Given the description of an element on the screen output the (x, y) to click on. 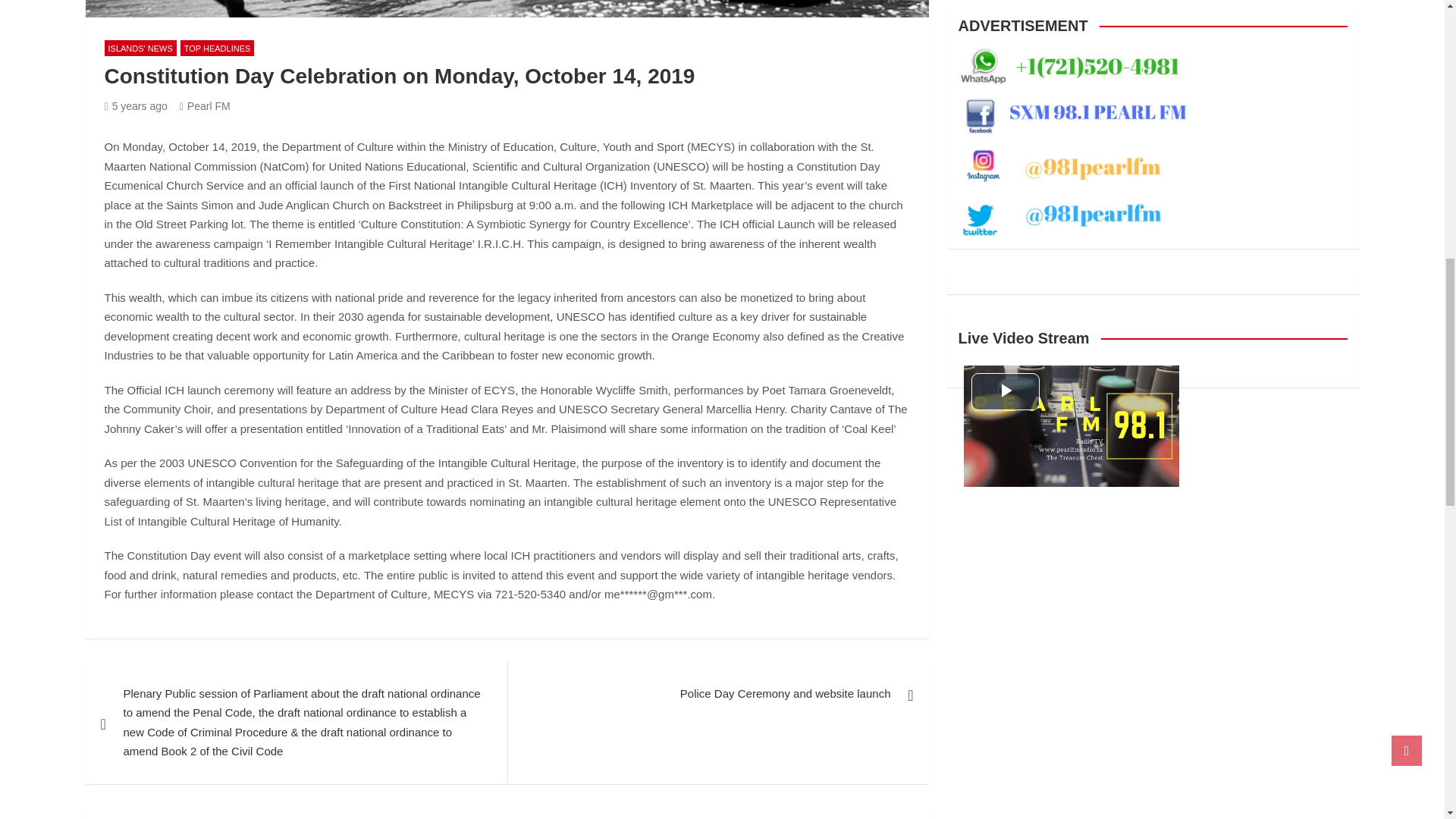
ISLANDS' NEWS (140, 48)
Pearl FM (204, 105)
TOP HEADLINES (217, 48)
5 years ago (135, 105)
Constitution Day Celebration on Monday, October 14, 2019 (135, 105)
Police Day Ceremony and website launch (717, 693)
